Given the description of an element on the screen output the (x, y) to click on. 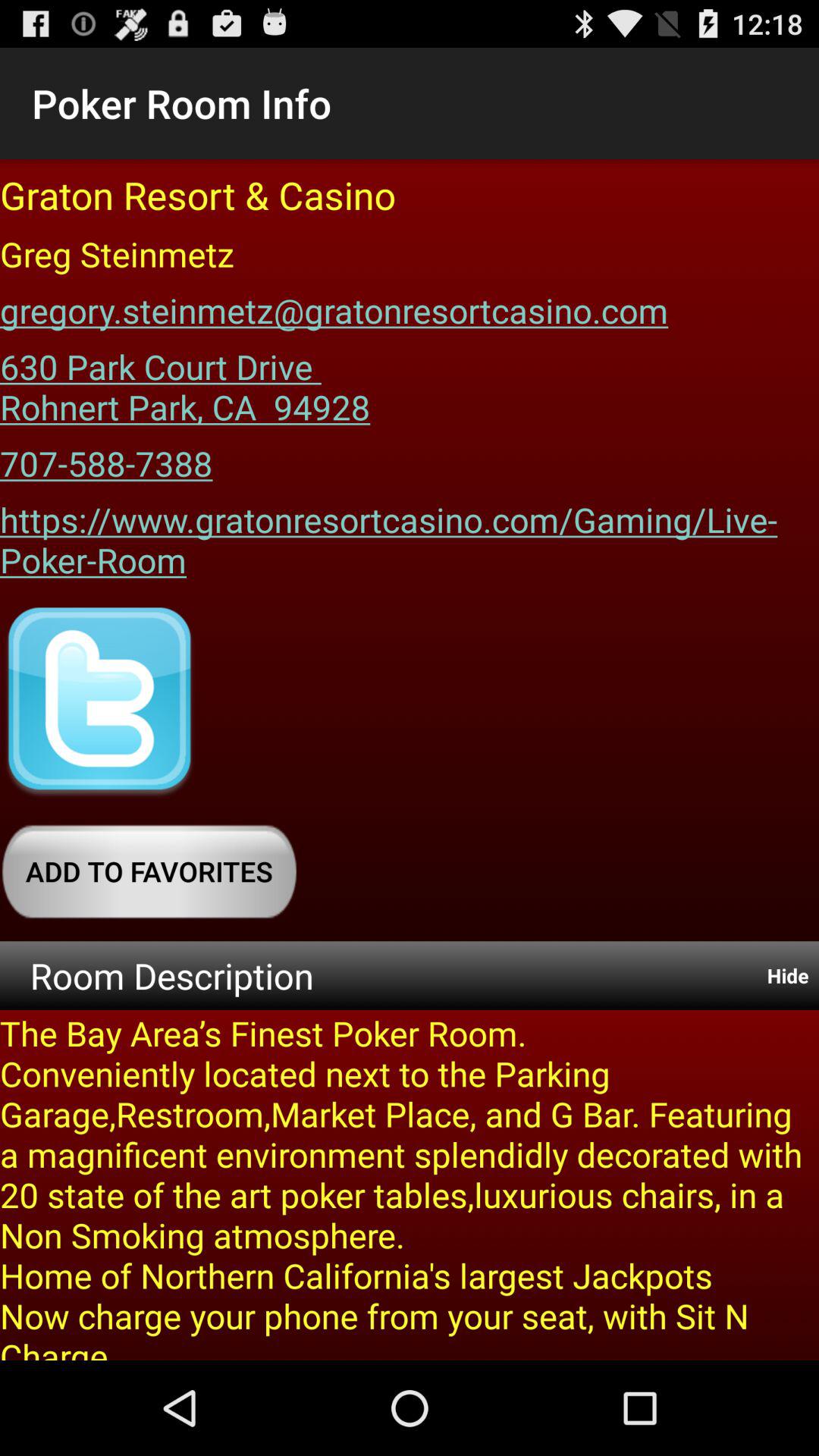
open the app above the 707-588-7388 (185, 381)
